Given the description of an element on the screen output the (x, y) to click on. 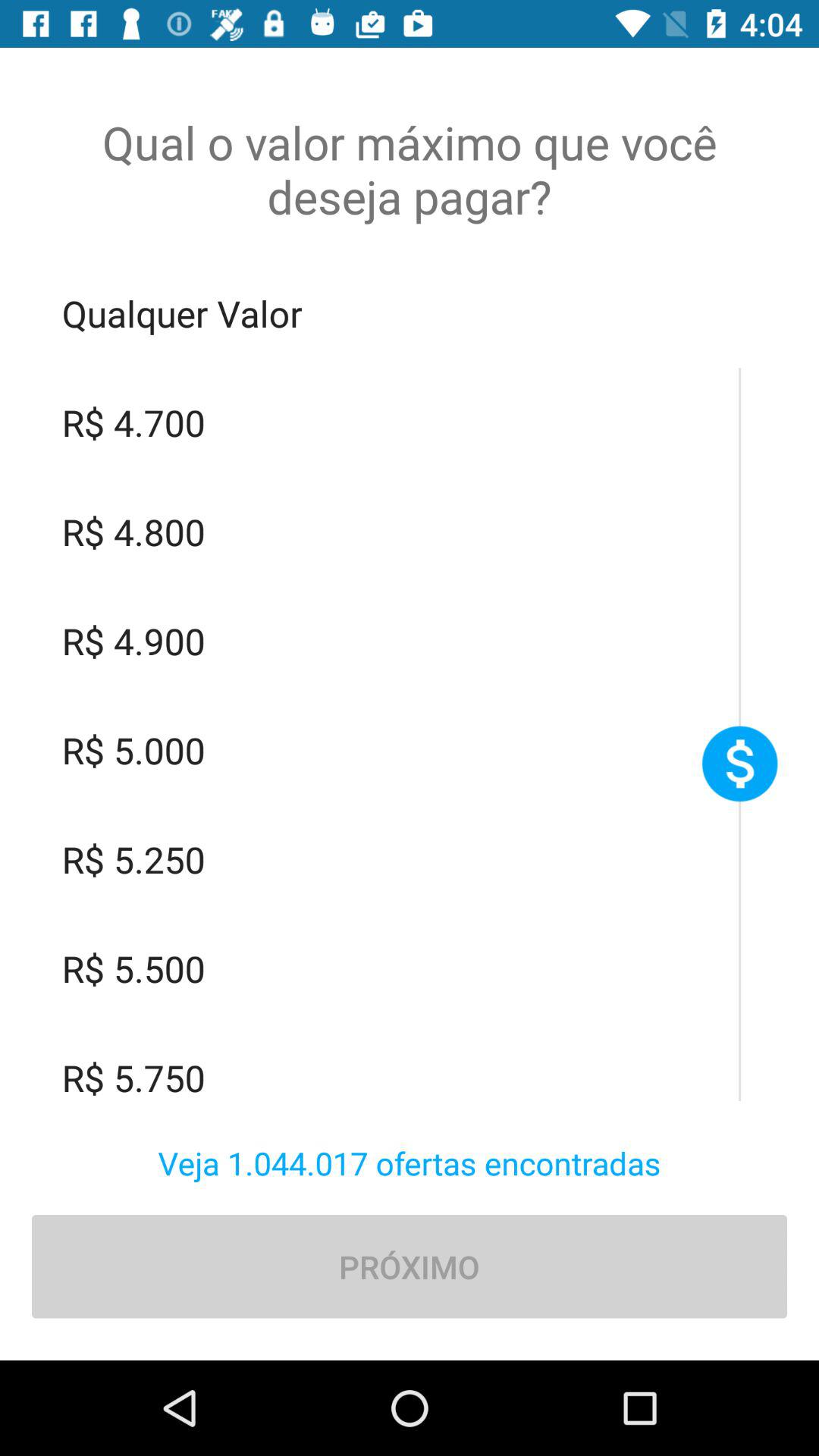
turn on item above r$ 4.700 (409, 312)
